Given the description of an element on the screen output the (x, y) to click on. 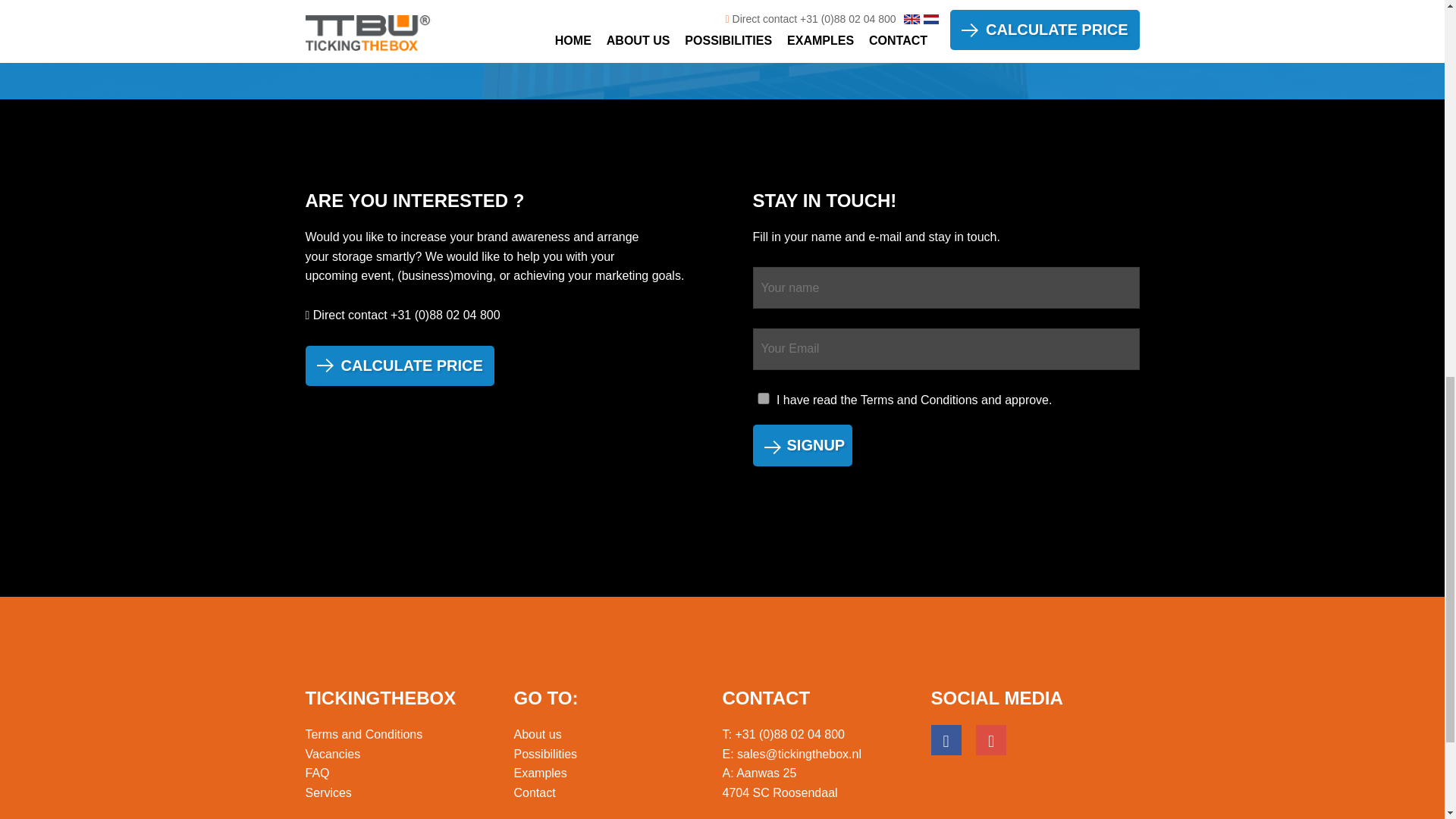
1 (762, 398)
Services (327, 792)
Possibilities (545, 753)
Signup (801, 445)
Vacancies (331, 753)
Examples (540, 772)
Terms and Conditions (363, 734)
Signup (801, 445)
CALCULATE PRICE (398, 365)
FAQ (316, 772)
Terms and Conditions (919, 399)
Facebook (945, 739)
Contact (534, 792)
About us (537, 734)
